Given the description of an element on the screen output the (x, y) to click on. 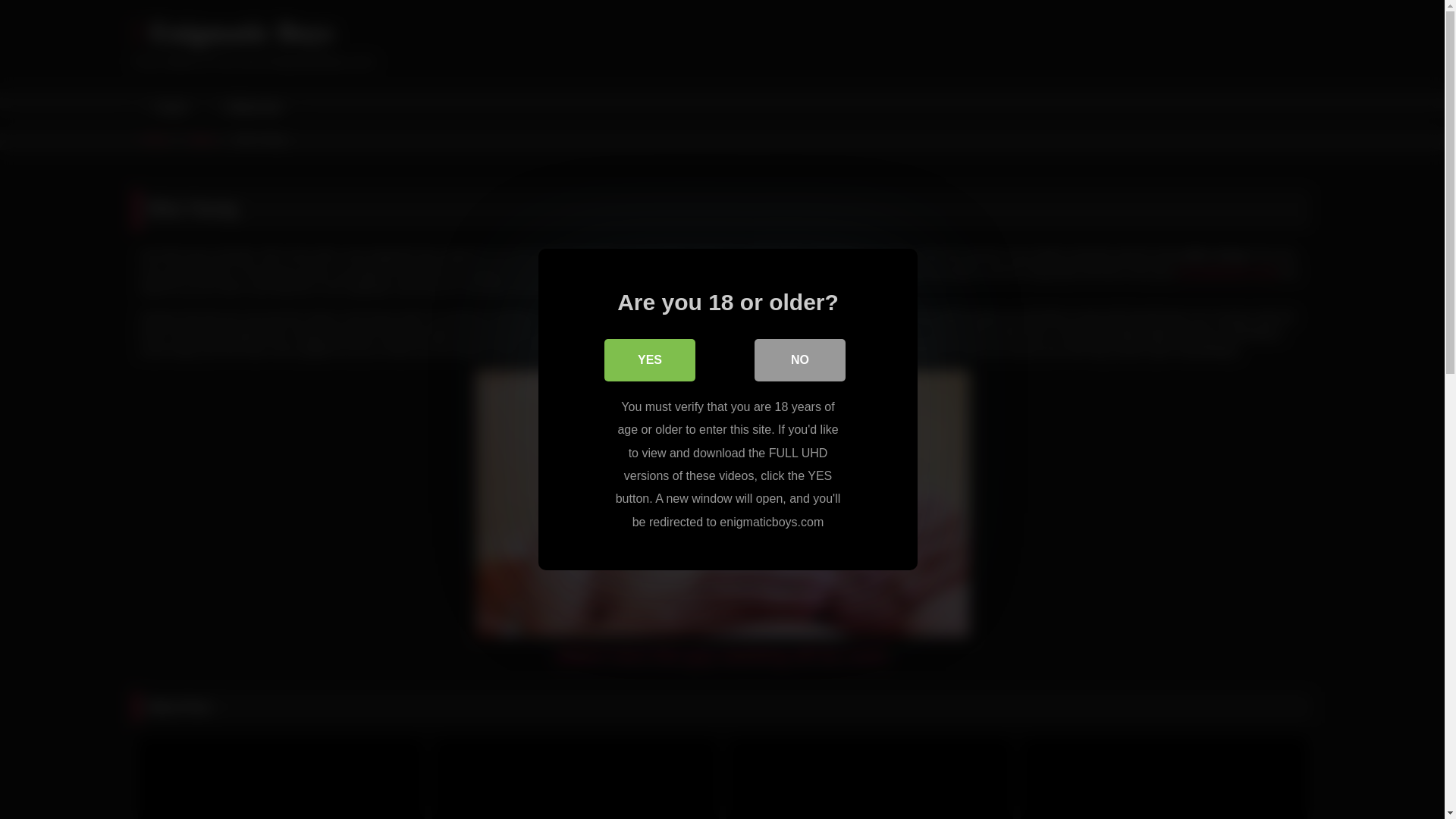
Enigmatic Boys (233, 32)
NO (799, 360)
enter (787, 349)
YES (649, 360)
Home (155, 138)
self gratification skills (1226, 272)
Watch here this guy wanking off his cock! (722, 655)
Official Site (250, 108)
Alex and Tom (1163, 778)
Home (169, 108)
Videos (201, 138)
Iann Window Photoshoot (869, 778)
Iann Window Photoshoot (869, 778)
Alex and Tom (1163, 778)
